Given the description of an element on the screen output the (x, y) to click on. 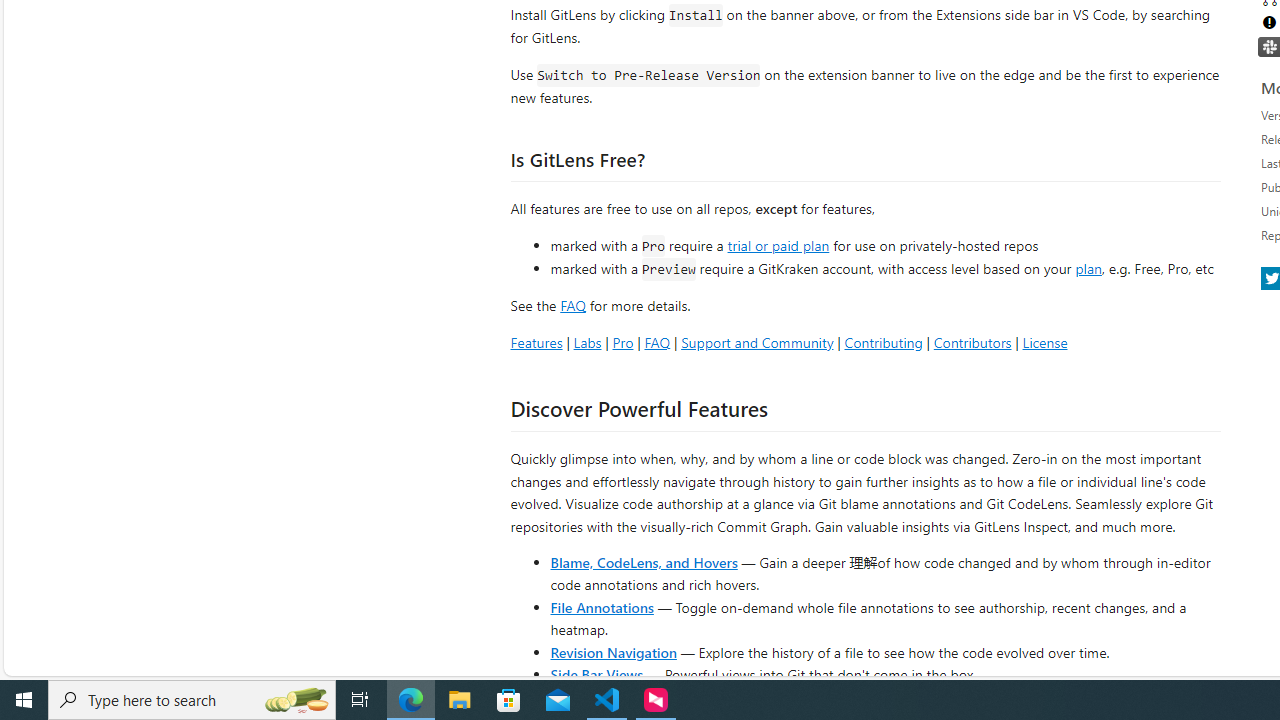
Blame, CodeLens, and Hovers (644, 561)
FAQ (656, 341)
Contributing (882, 341)
Contributors (972, 341)
Features (536, 341)
File Annotations (602, 606)
License (1044, 341)
Pro (622, 341)
trial or paid plan (778, 244)
